Given the description of an element on the screen output the (x, y) to click on. 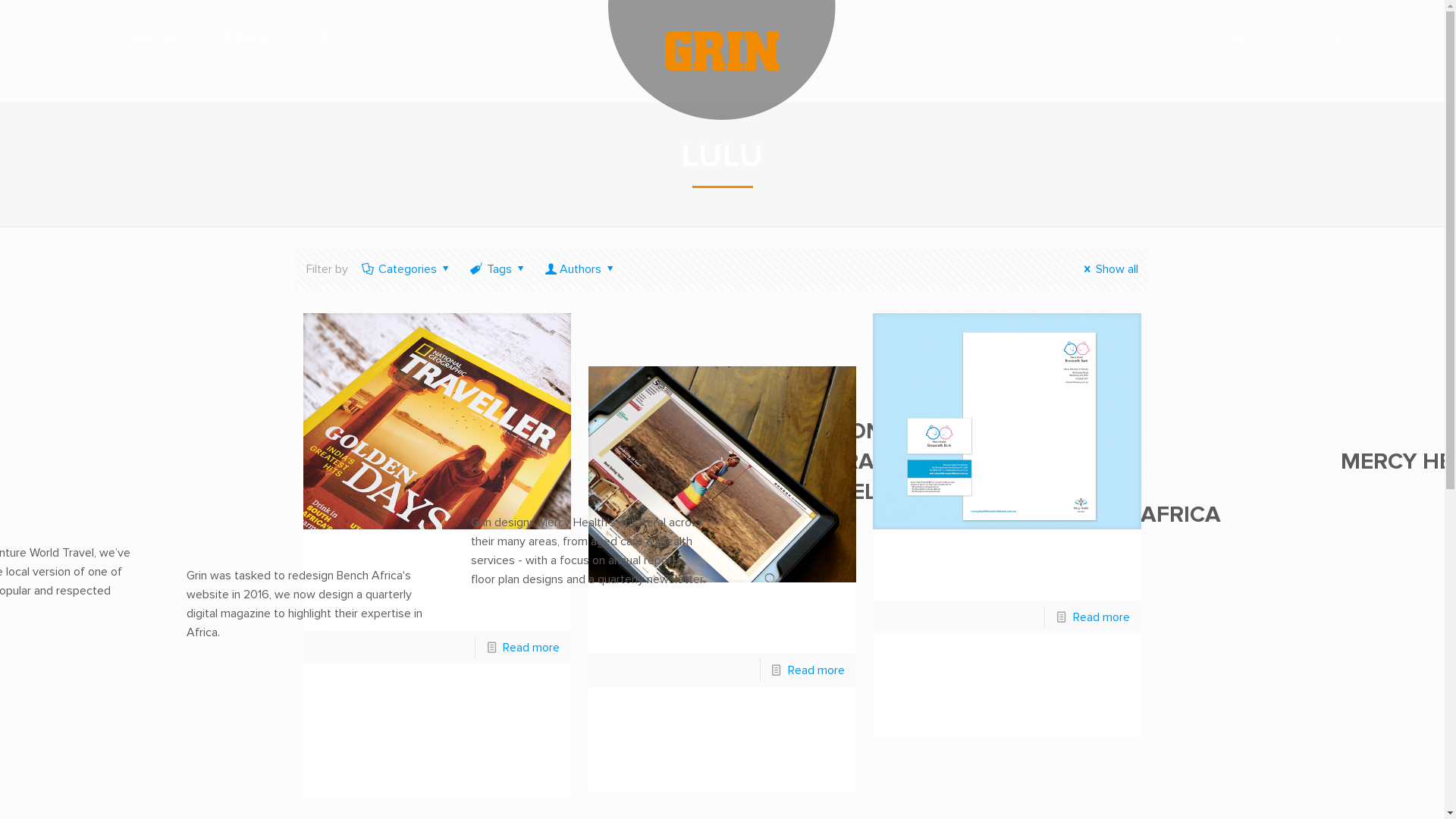
Authors Element type: text (580, 269)
CONTACT Element type: text (1324, 37)
Grin Creative Element type: hover (721, 37)
CREATIVE Element type: text (150, 37)
NATIONAL GEOGRAPHIC TRAVELLER Element type: text (853, 461)
Show all Element type: text (1108, 269)
Read more Element type: text (1101, 617)
Categories Element type: text (407, 269)
Read more Element type: text (530, 647)
Read more Element type: text (815, 670)
BENCH AFRICA Element type: text (1139, 514)
ABOUT Element type: text (1245, 37)
Tags Element type: text (499, 269)
PUBLISHING Element type: text (239, 37)
CONTENT Element type: text (330, 37)
